Given the description of an element on the screen output the (x, y) to click on. 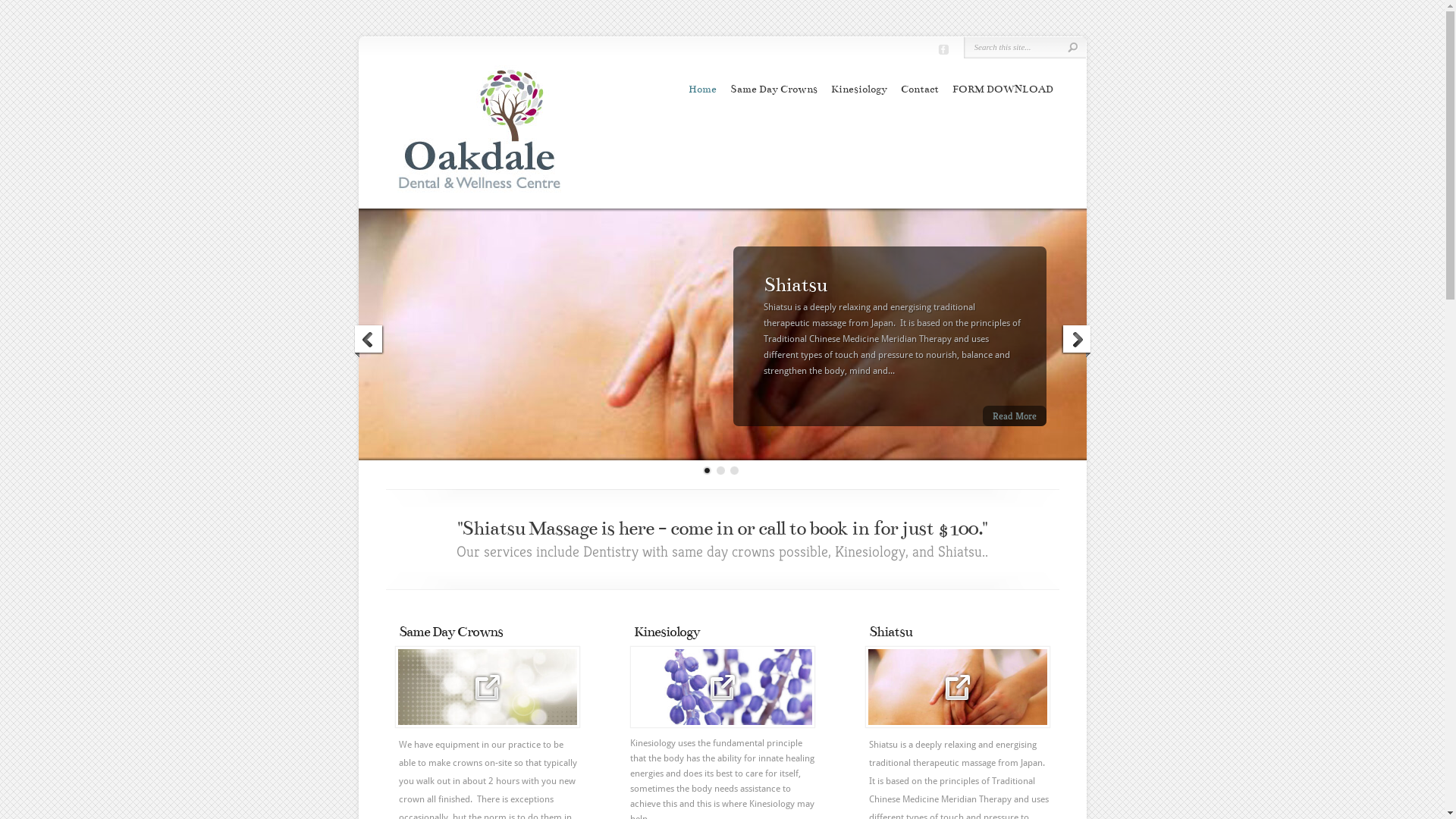
Same Day Crowns Element type: text (772, 89)
Shiatsu Element type: text (793, 284)
Home Element type: text (702, 89)
2 Element type: text (734, 470)
1 Element type: text (720, 470)
Kinesiology Element type: text (859, 89)
Read More Element type: text (1014, 415)
0 Element type: text (706, 470)
Next Element type: text (1075, 340)
Previous Element type: text (368, 340)
FORM DOWNLOAD Element type: text (1002, 89)
Contact Element type: text (919, 89)
